Given the description of an element on the screen output the (x, y) to click on. 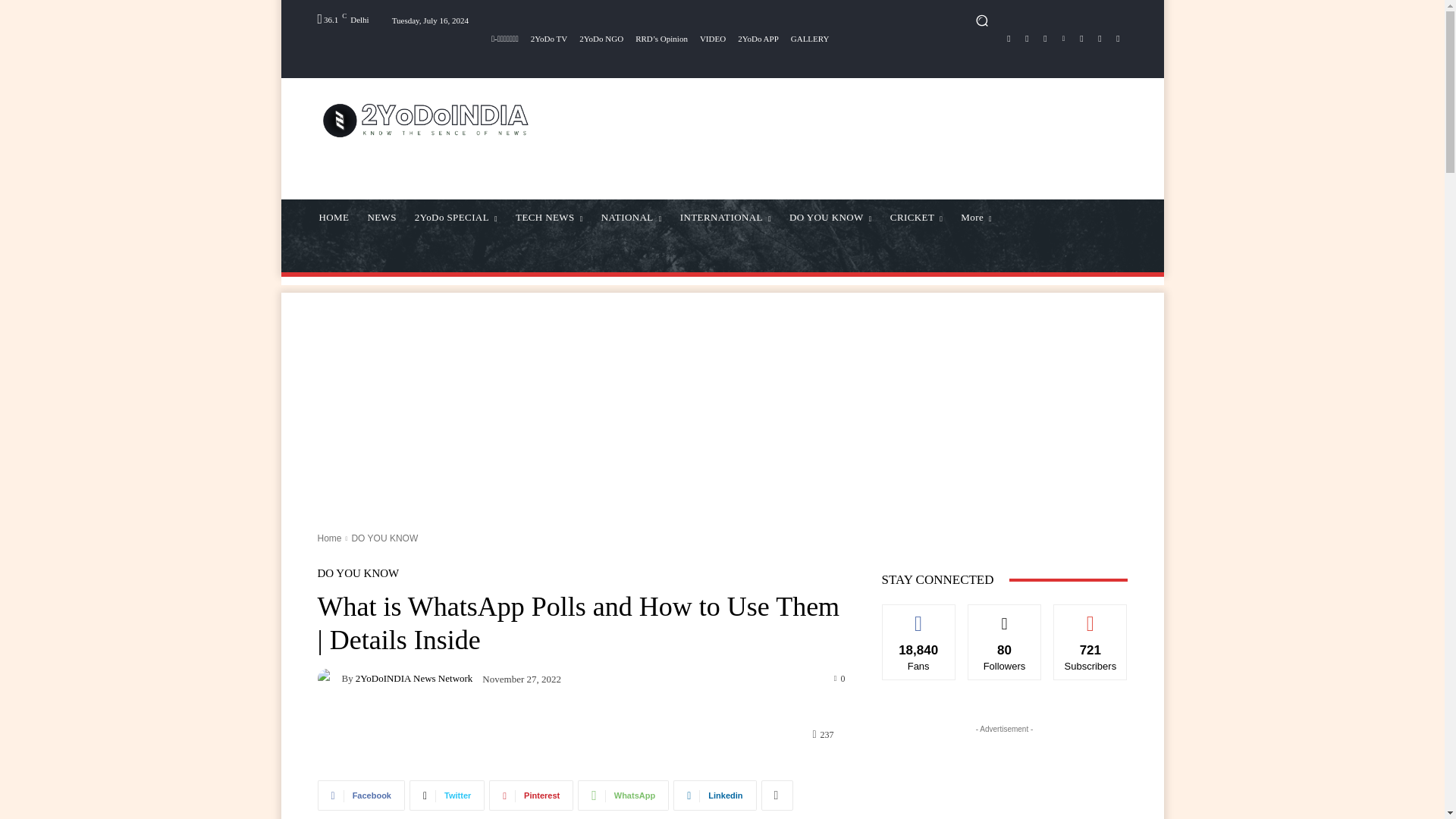
Facebook (1007, 38)
